Given the description of an element on the screen output the (x, y) to click on. 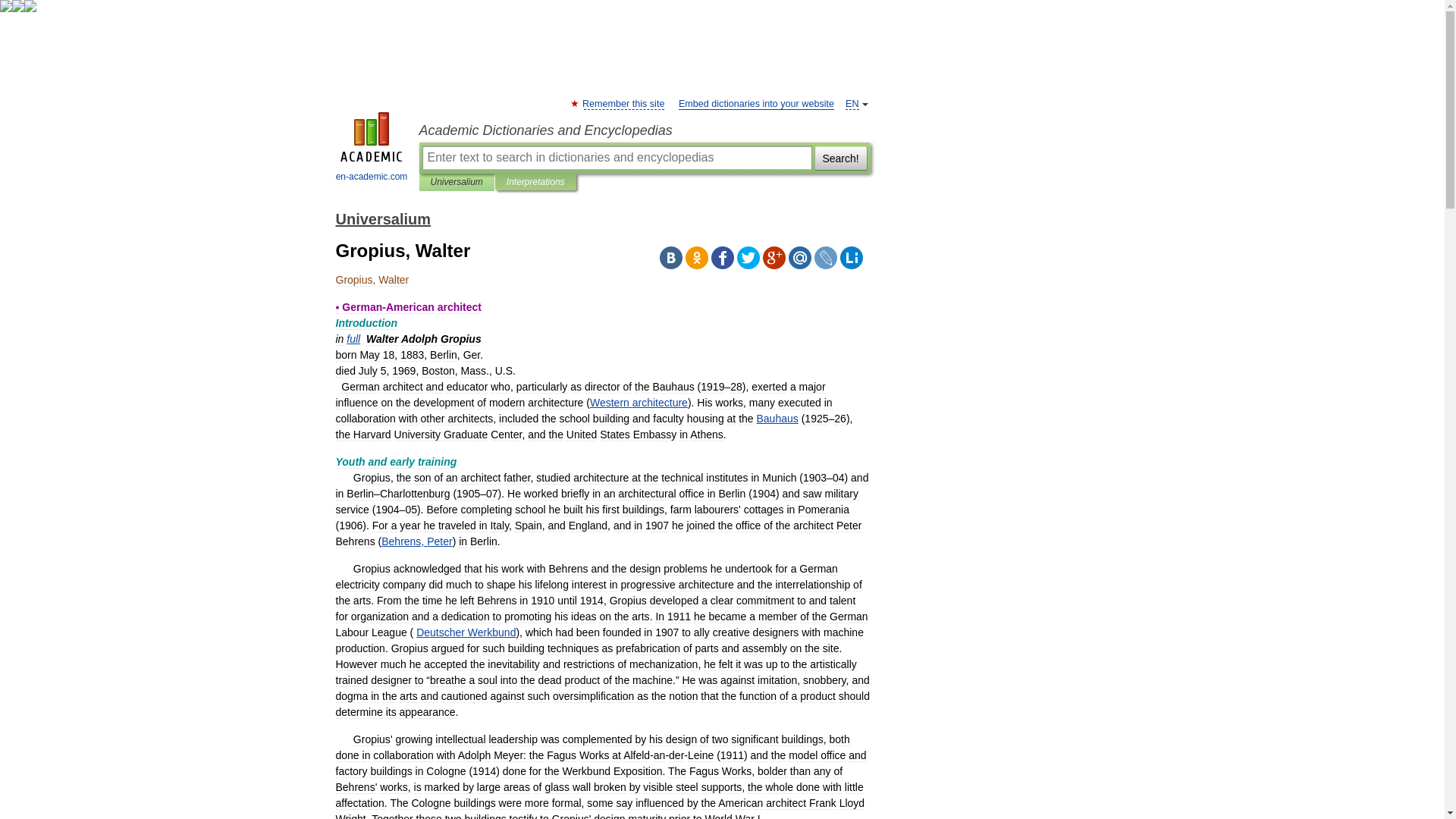
Enter text to search in dictionaries and encyclopedias (616, 157)
Behrens, Peter (416, 541)
Academic Dictionaries and Encyclopedias (644, 130)
full (352, 338)
Interpretations (535, 181)
Remember this site (623, 103)
Bauhaus (777, 418)
Universalium (382, 218)
en-academic.com (371, 148)
Western architecture (638, 402)
EN (852, 103)
Embed dictionaries into your website (756, 103)
Deutscher Werkbund (465, 632)
Search! (840, 157)
Universalium (456, 181)
